Given the description of an element on the screen output the (x, y) to click on. 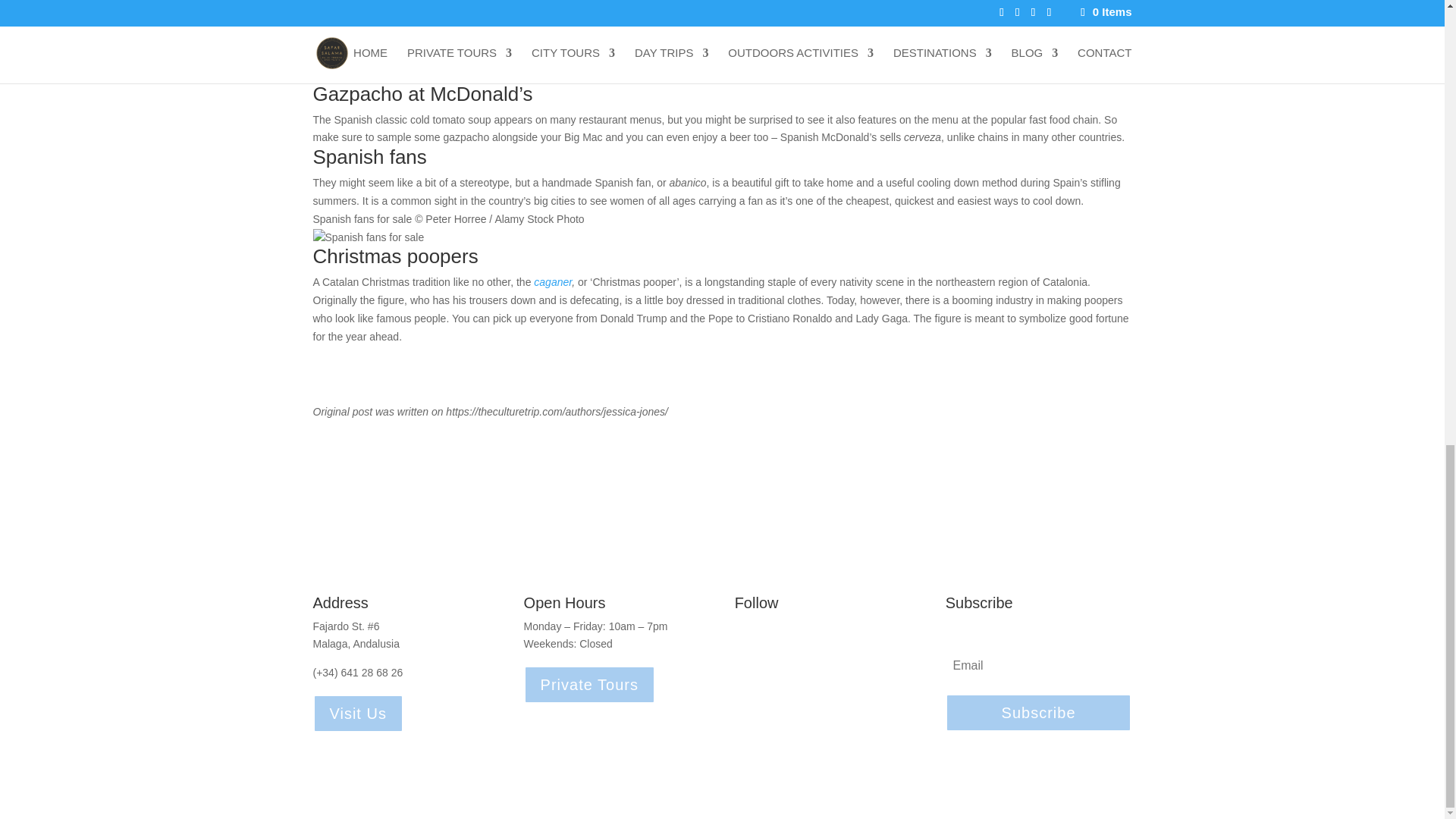
Follow on Instagram (777, 641)
Follow on Facebook (746, 641)
Follow on Twitter (806, 641)
